Given the description of an element on the screen output the (x, y) to click on. 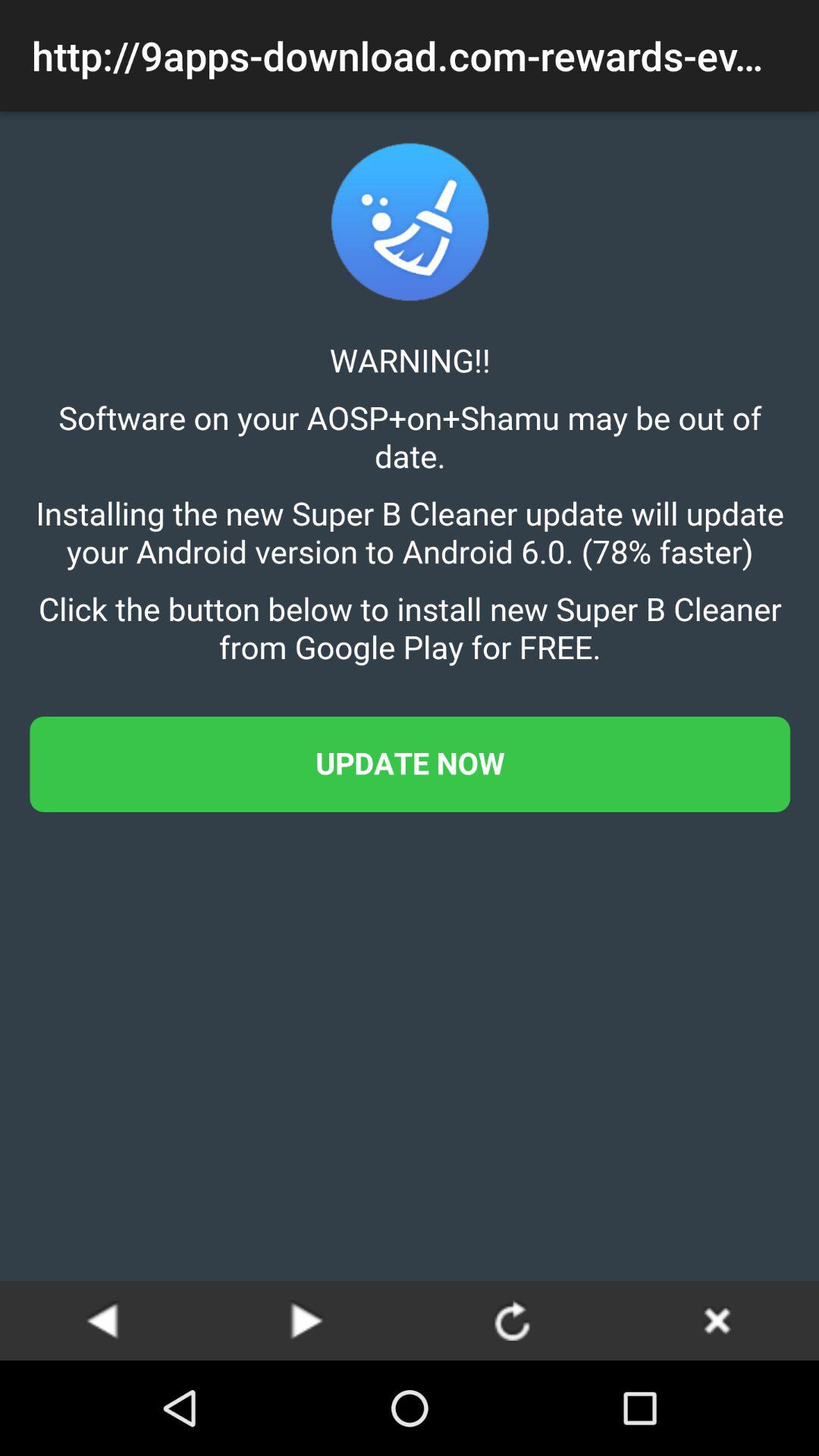
rotate option (511, 1320)
